Given the description of an element on the screen output the (x, y) to click on. 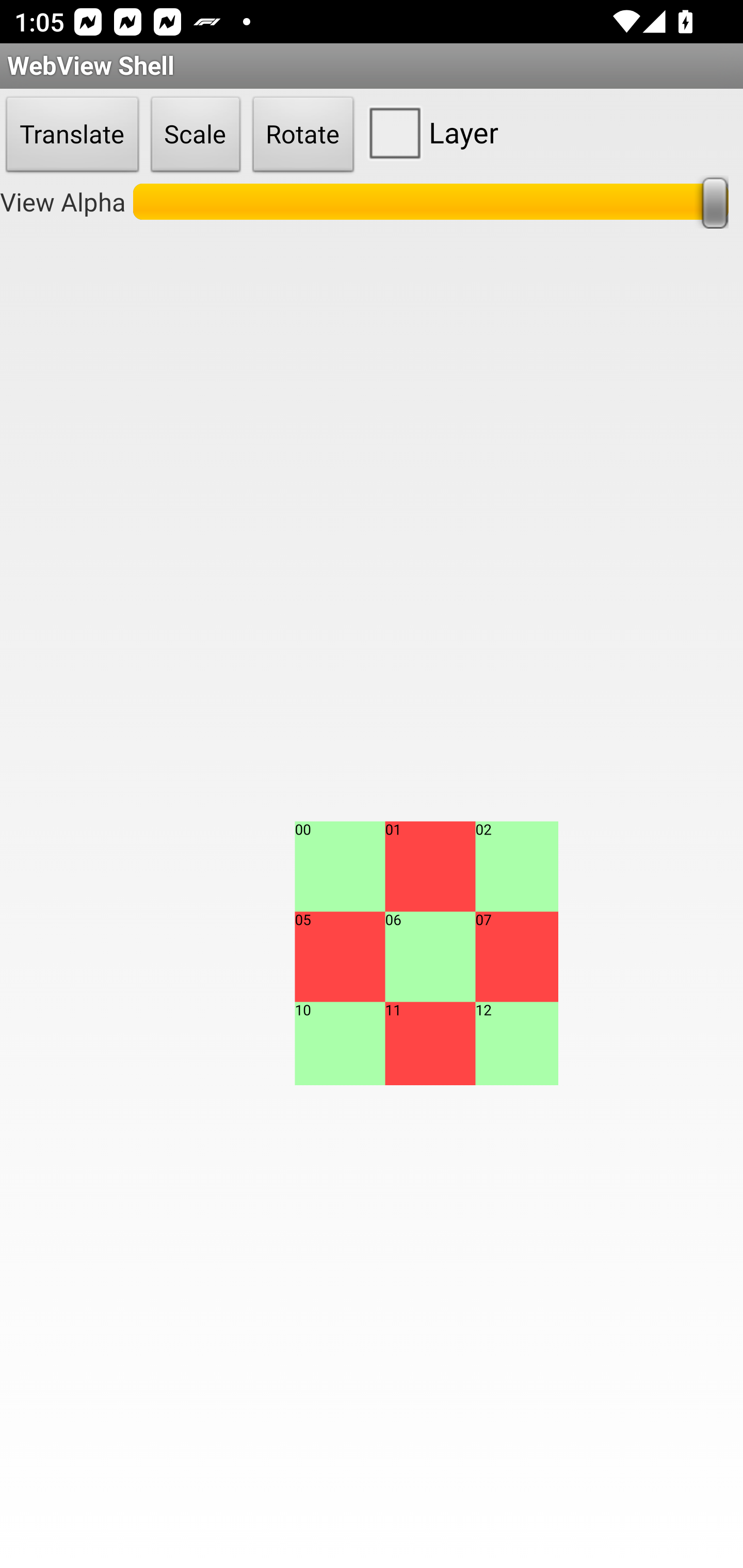
Layer (429, 132)
Translate (72, 135)
Scale (195, 135)
Rotate (303, 135)
